Given the description of an element on the screen output the (x, y) to click on. 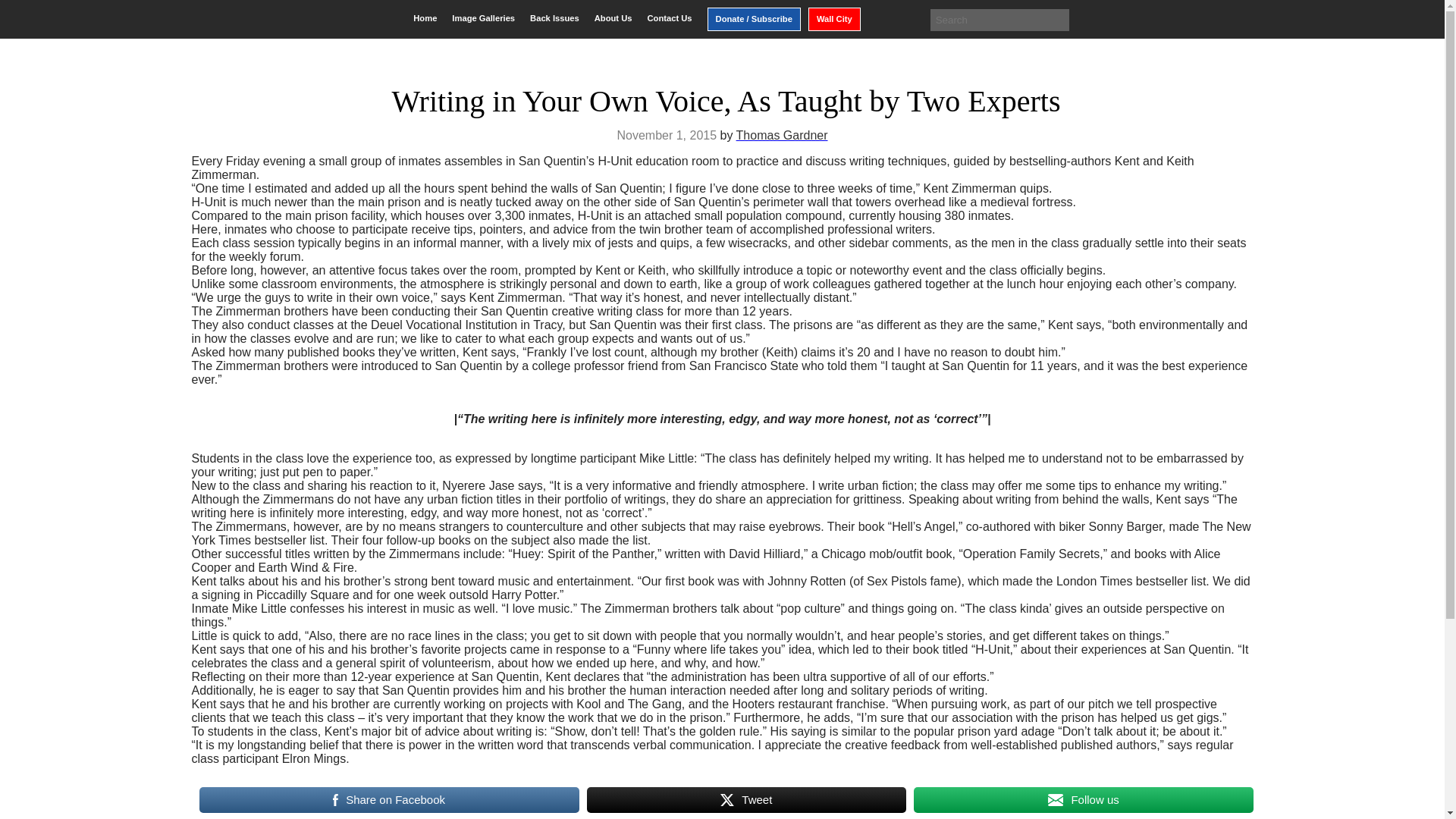
Back Issues (554, 17)
Contact Us (668, 17)
Wall City (833, 18)
About Us (612, 17)
Follow us (1083, 799)
Home (424, 17)
Search (22, 12)
Share on Facebook (388, 799)
Image Galleries (483, 17)
Tweet (745, 799)
